Given the description of an element on the screen output the (x, y) to click on. 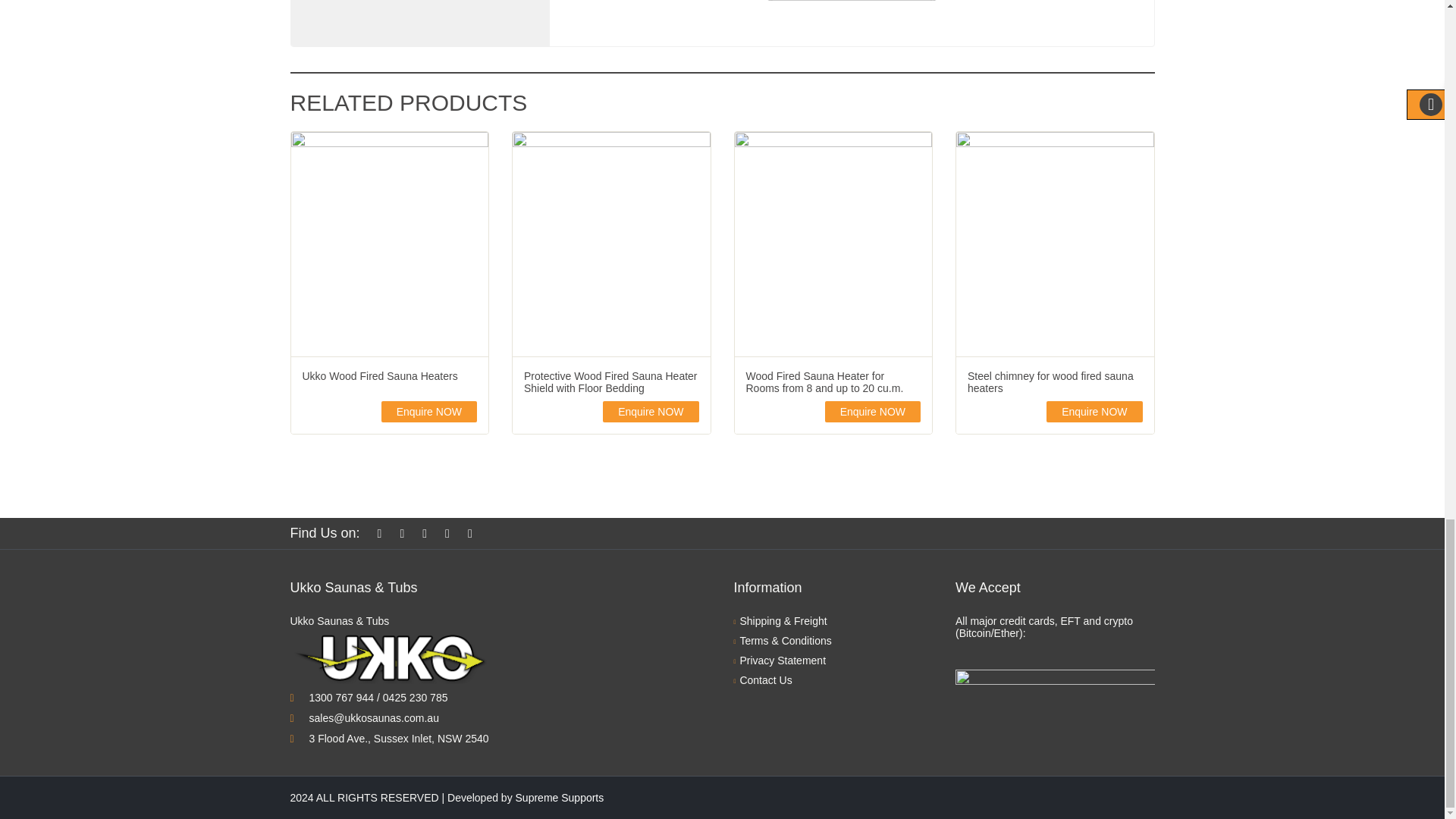
Ukko Wood Fired Sauna Heaters (389, 376)
Connect us on Twitter (405, 533)
Connect us on Facebook (383, 533)
Enquire NOW (429, 411)
